Given the description of an element on the screen output the (x, y) to click on. 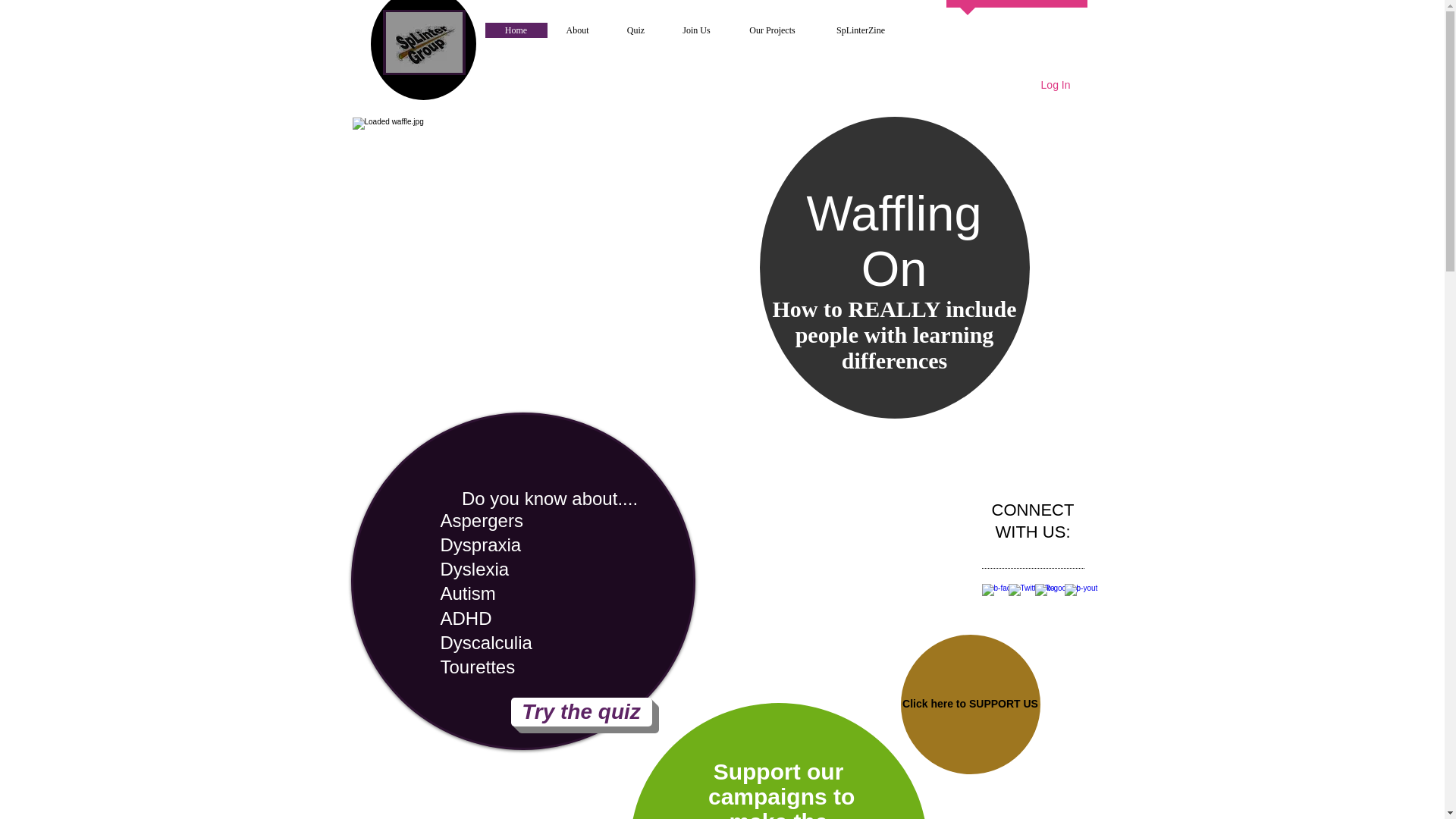
Join Us (696, 29)
Click here to SUPPORT US (971, 703)
Home (515, 29)
Quiz (635, 29)
Try the quiz (581, 711)
Our Projects (772, 29)
SpLinterZine (860, 29)
About (577, 29)
Log In (1055, 84)
